Given the description of an element on the screen output the (x, y) to click on. 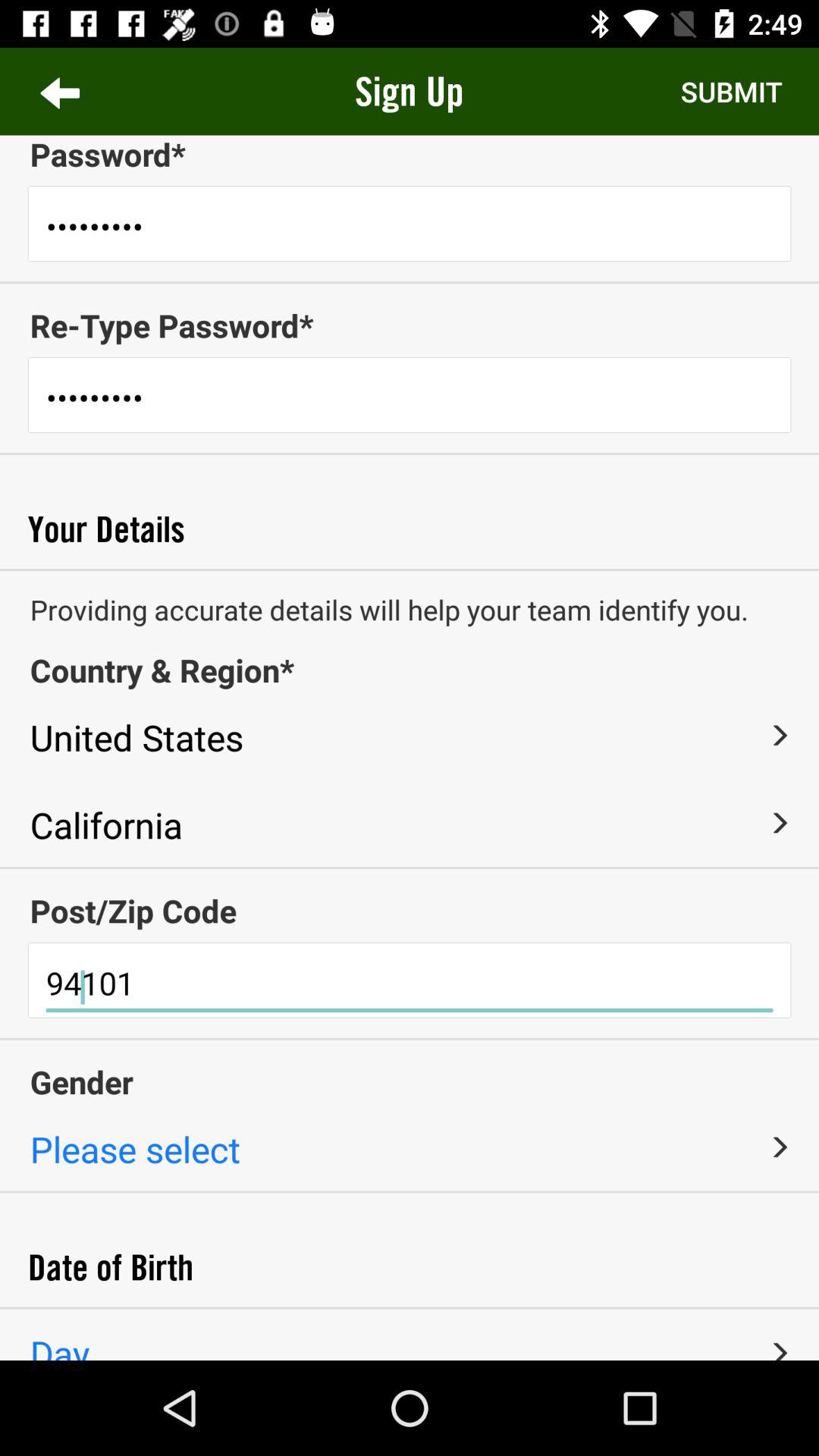
turn off post/zip code item (409, 910)
